Given the description of an element on the screen output the (x, y) to click on. 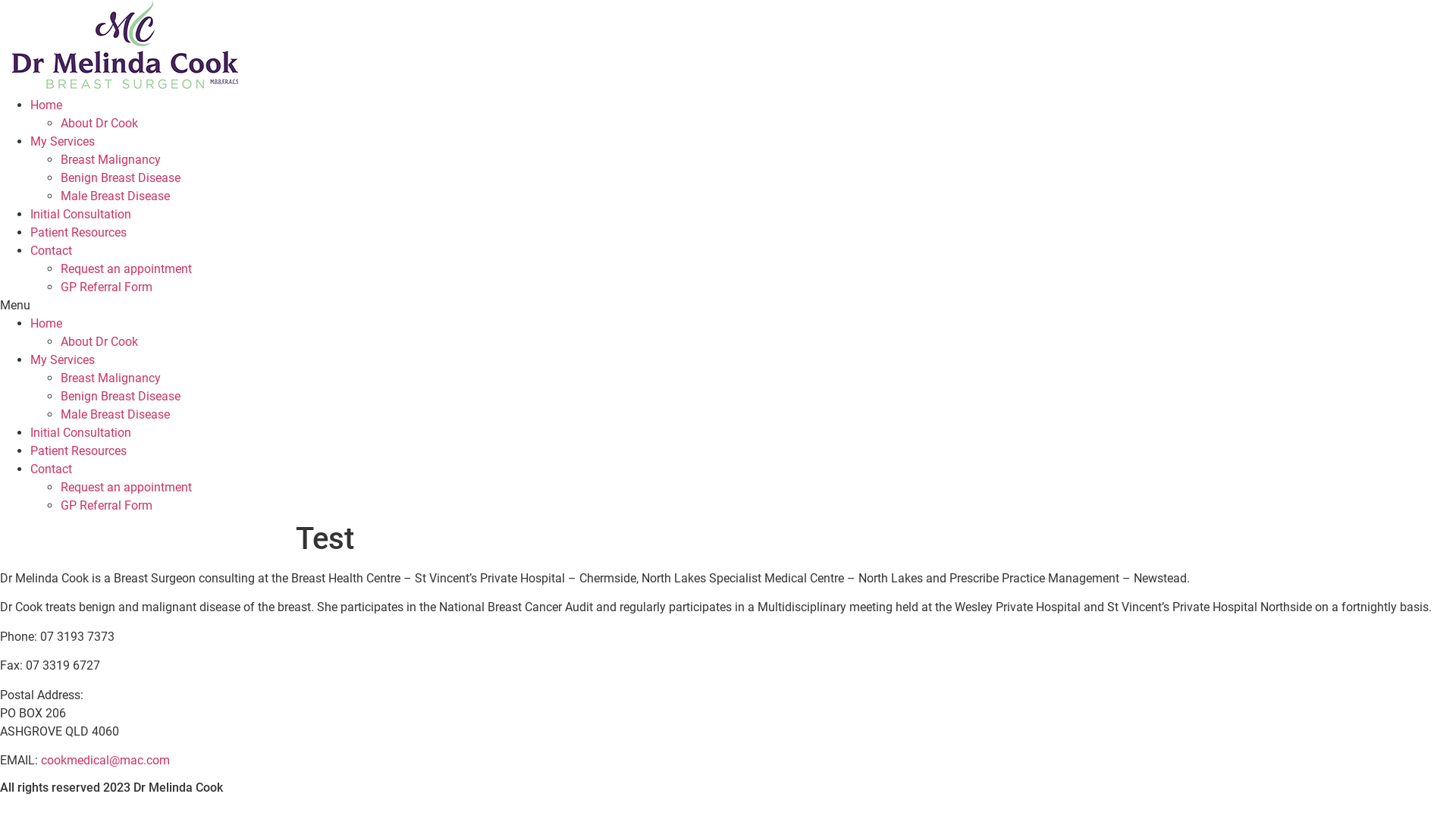
Benign Breast Disease Element type: text (120, 177)
Patient Resources Element type: text (78, 232)
Request an appointment Element type: text (125, 268)
Home Element type: text (46, 104)
My Services Element type: text (62, 359)
Patient Resources Element type: text (78, 450)
Male Breast Disease Element type: text (114, 414)
Breast Malignancy Element type: text (110, 159)
About Dr Cook Element type: text (99, 341)
About Dr Cook Element type: text (99, 123)
My Services Element type: text (62, 141)
Breast Malignancy Element type: text (110, 377)
Home Element type: text (46, 323)
Initial Consultation Element type: text (80, 214)
GP Referral Form Element type: text (106, 505)
Contact Element type: text (51, 468)
GP Referral Form Element type: text (106, 286)
Male Breast Disease Element type: text (114, 195)
Benign Breast Disease Element type: text (120, 396)
cookmedical@mac.com Element type: text (104, 760)
Contact Element type: text (51, 250)
Initial Consultation Element type: text (80, 432)
Request an appointment Element type: text (125, 487)
